Given the description of an element on the screen output the (x, y) to click on. 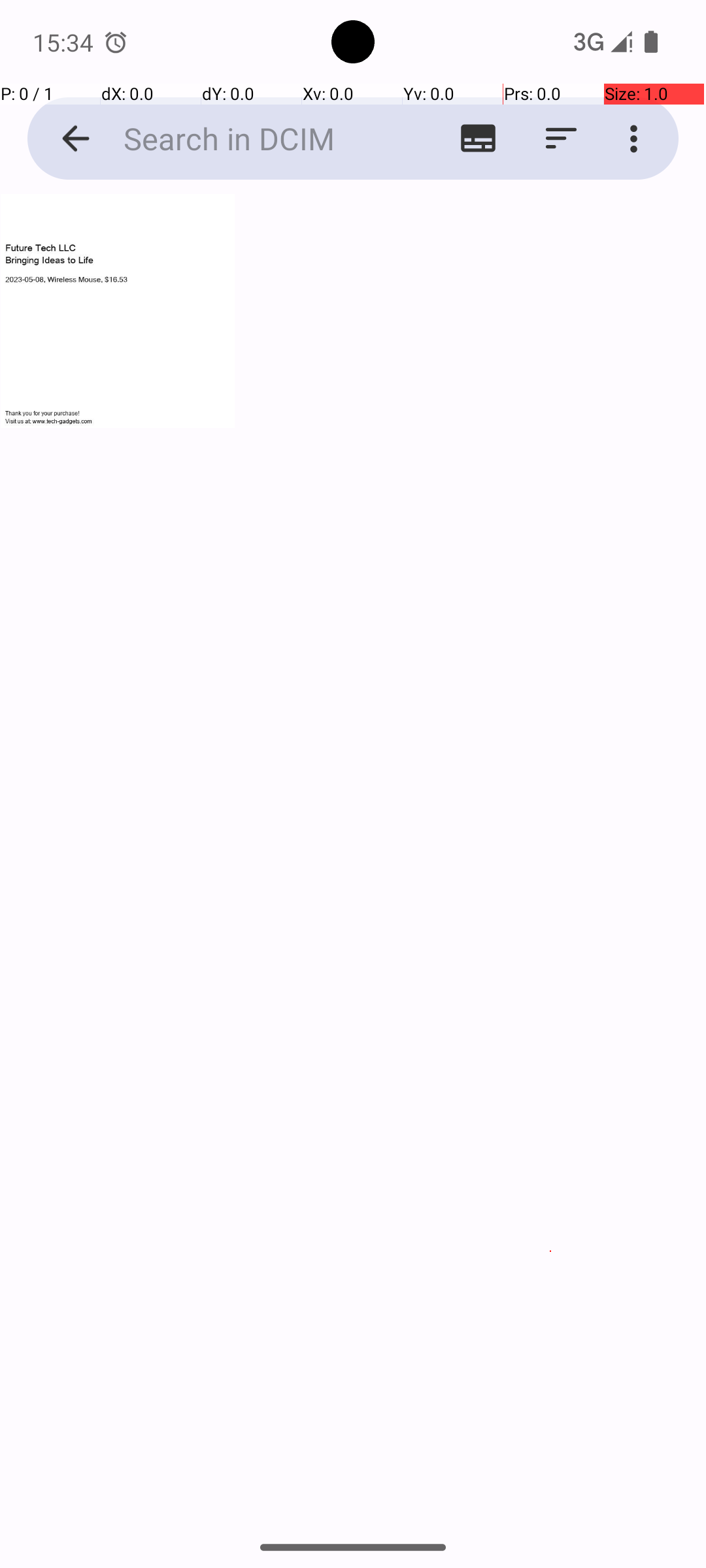
Search in DCIM Element type: android.widget.EditText (252, 138)
